Given the description of an element on the screen output the (x, y) to click on. 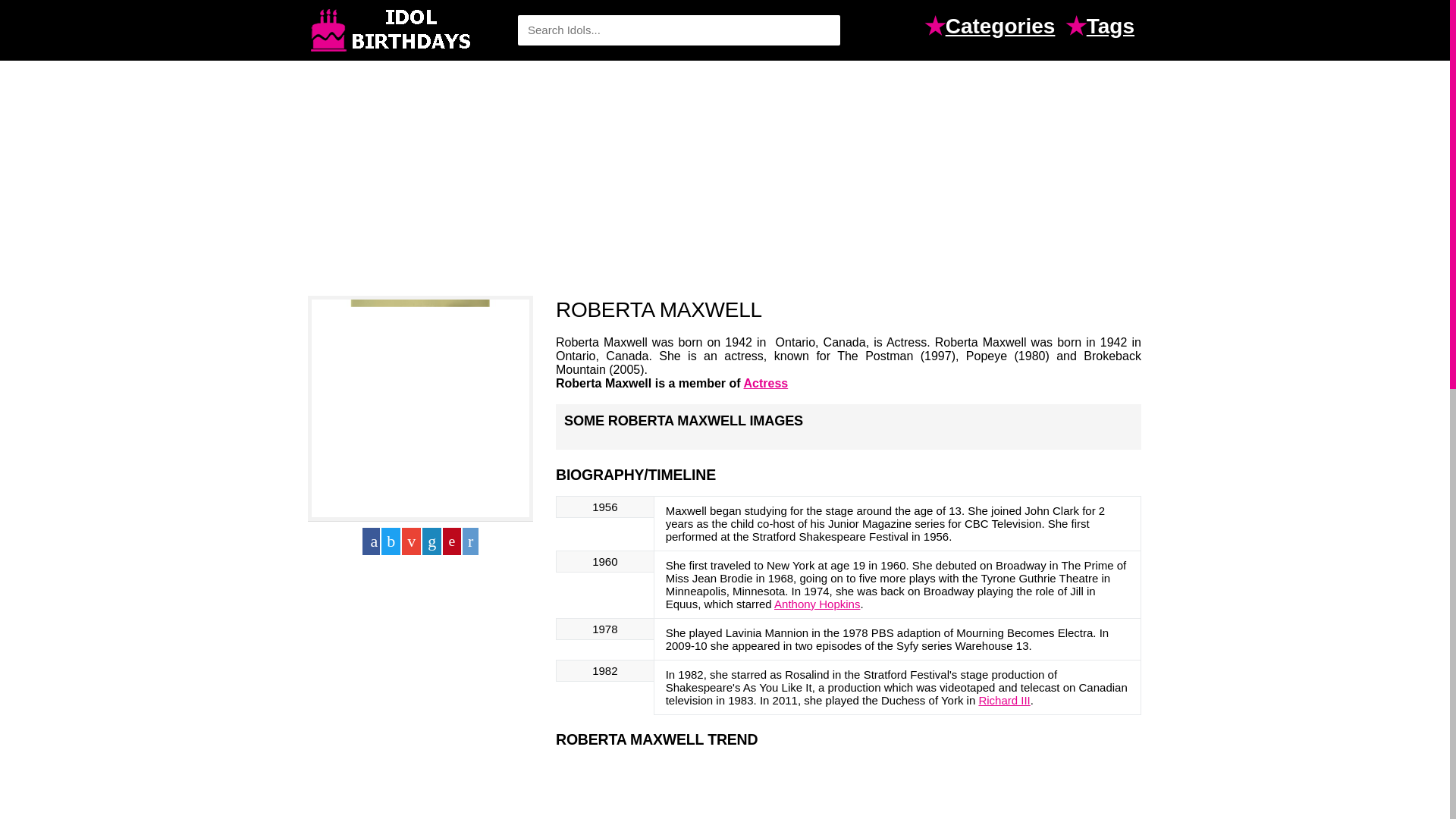
Categories (1003, 28)
Tags (1113, 28)
Roberta Maxwell (420, 407)
SEARCH (820, 30)
Tags (1113, 28)
